Given the description of an element on the screen output the (x, y) to click on. 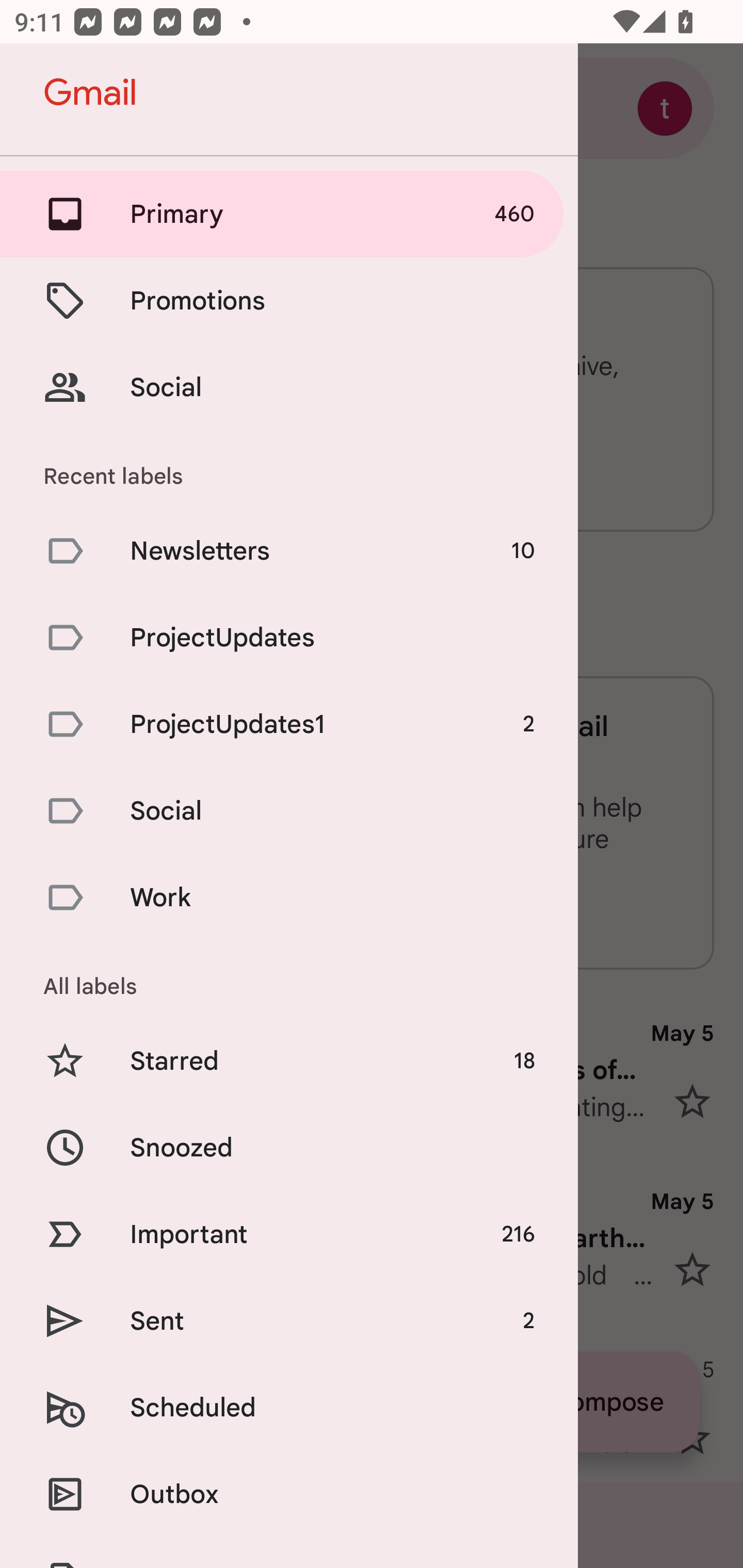
Primary 460 (289, 213)
Promotions (289, 300)
Social (289, 387)
Newsletters 10 (289, 551)
ProjectUpdates (289, 637)
ProjectUpdates1 2 (289, 723)
Social (289, 810)
Work (289, 897)
Starred 18 (289, 1060)
Snoozed (289, 1147)
Important 216 (289, 1234)
Sent 2 (289, 1320)
Scheduled (289, 1407)
Outbox (289, 1494)
